Given the description of an element on the screen output the (x, y) to click on. 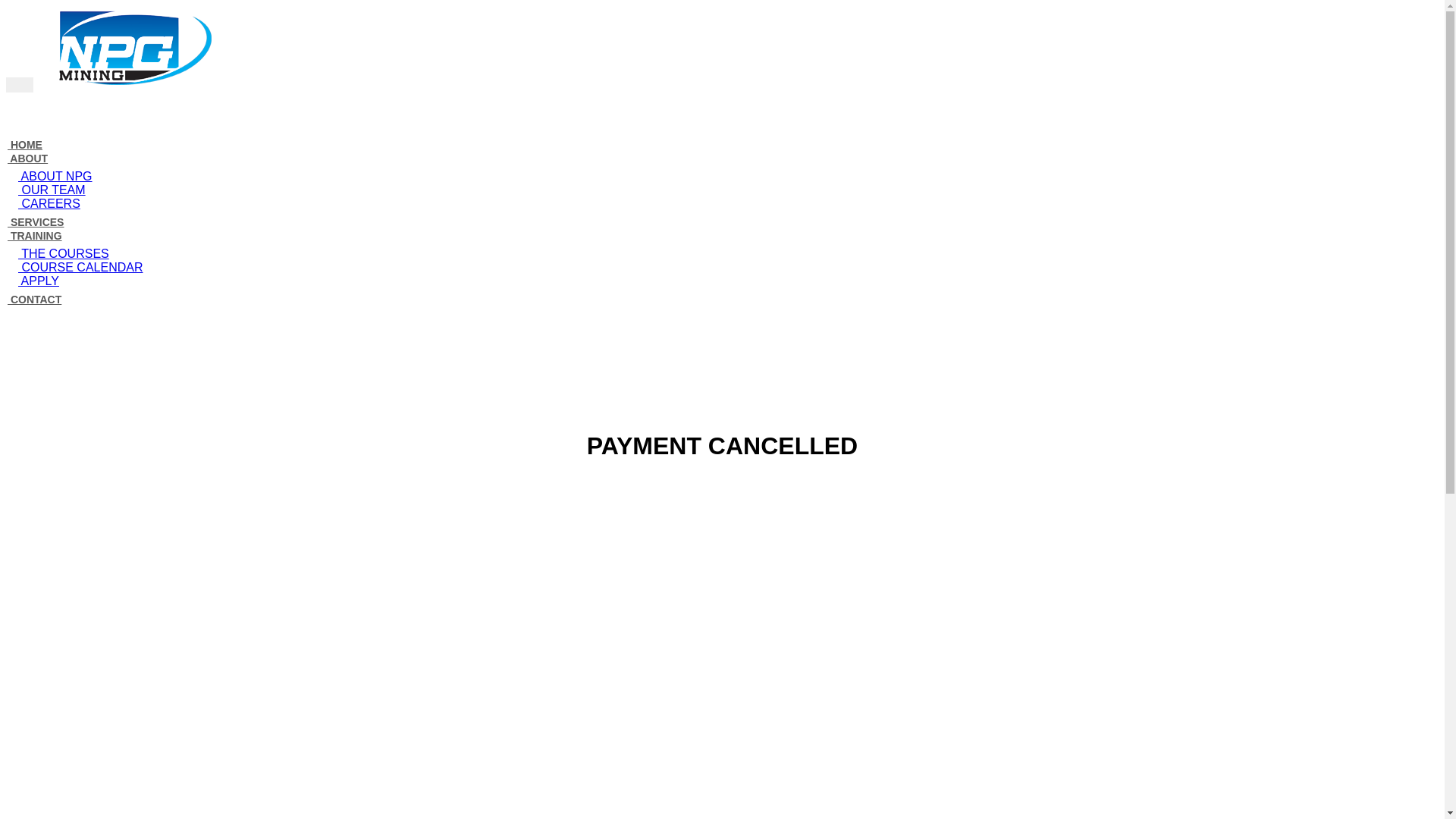
 COURSE CALENDAR Element type: text (78, 266)
 ABOUT NPG Element type: text (53, 175)
 APPLY Element type: text (36, 280)
 SERVICES Element type: text (34, 222)
 TRAINING Element type: text (34, 235)
 HOME Element type: text (24, 144)
 CONTACT Element type: text (33, 299)
Show menu Element type: hover (19, 84)
 OUR TEAM Element type: text (49, 189)
 THE COURSES Element type: text (61, 253)
 ABOUT Element type: text (26, 158)
 CAREERS Element type: text (46, 203)
